Given the description of an element on the screen output the (x, y) to click on. 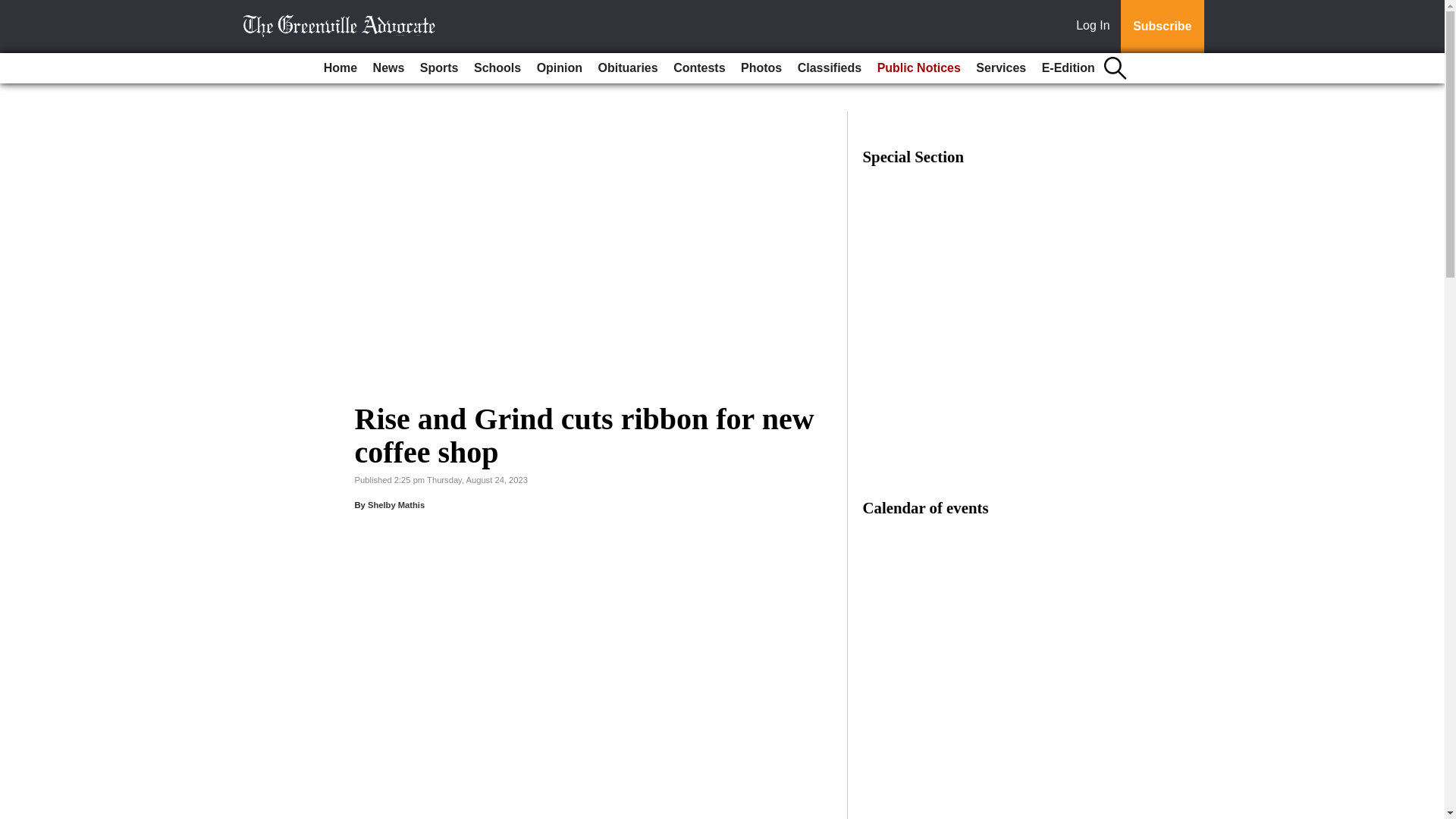
Log In (1095, 26)
Shelby Mathis (396, 504)
Classifieds (829, 68)
Photos (761, 68)
Opinion (559, 68)
Public Notices (918, 68)
Obituaries (627, 68)
Home (339, 68)
Subscribe (1162, 26)
Services (1000, 68)
Sports (438, 68)
Go (13, 9)
E-Edition (1067, 68)
Schools (497, 68)
News (388, 68)
